Given the description of an element on the screen output the (x, y) to click on. 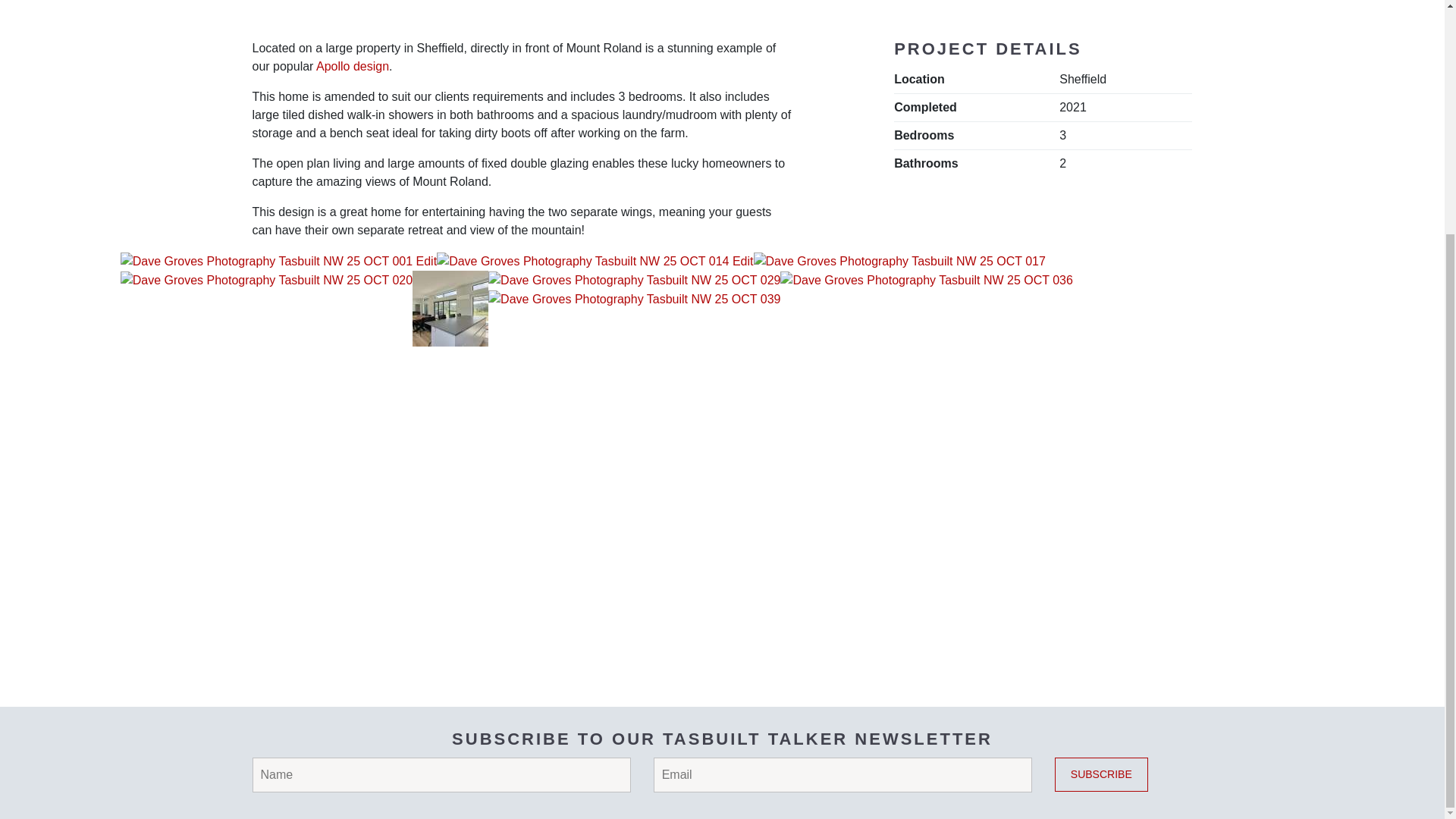
Dave Groves Photography Tasbuilt NW 25 OCT 014 Edit (594, 261)
Dave Groves Photography Tasbuilt NW 25 OCT 001 Edit (278, 261)
Dave Groves Photography Tasbuilt NW 25 OCT 020 (266, 280)
Dave Groves Photography Tasbuilt NW 25 OCT 036 (925, 280)
Dave Groves Photography Tasbuilt NW 25 OCT 039 (633, 298)
Dave Groves Photography Tasbuilt NW 25 OCT 017 (899, 261)
Dave Groves Photography Tasbuilt NW 25 OCT 029 (633, 280)
Dave Groves Photography Tasbuilt NW 25 OCT 022 (449, 308)
